Given the description of an element on the screen output the (x, y) to click on. 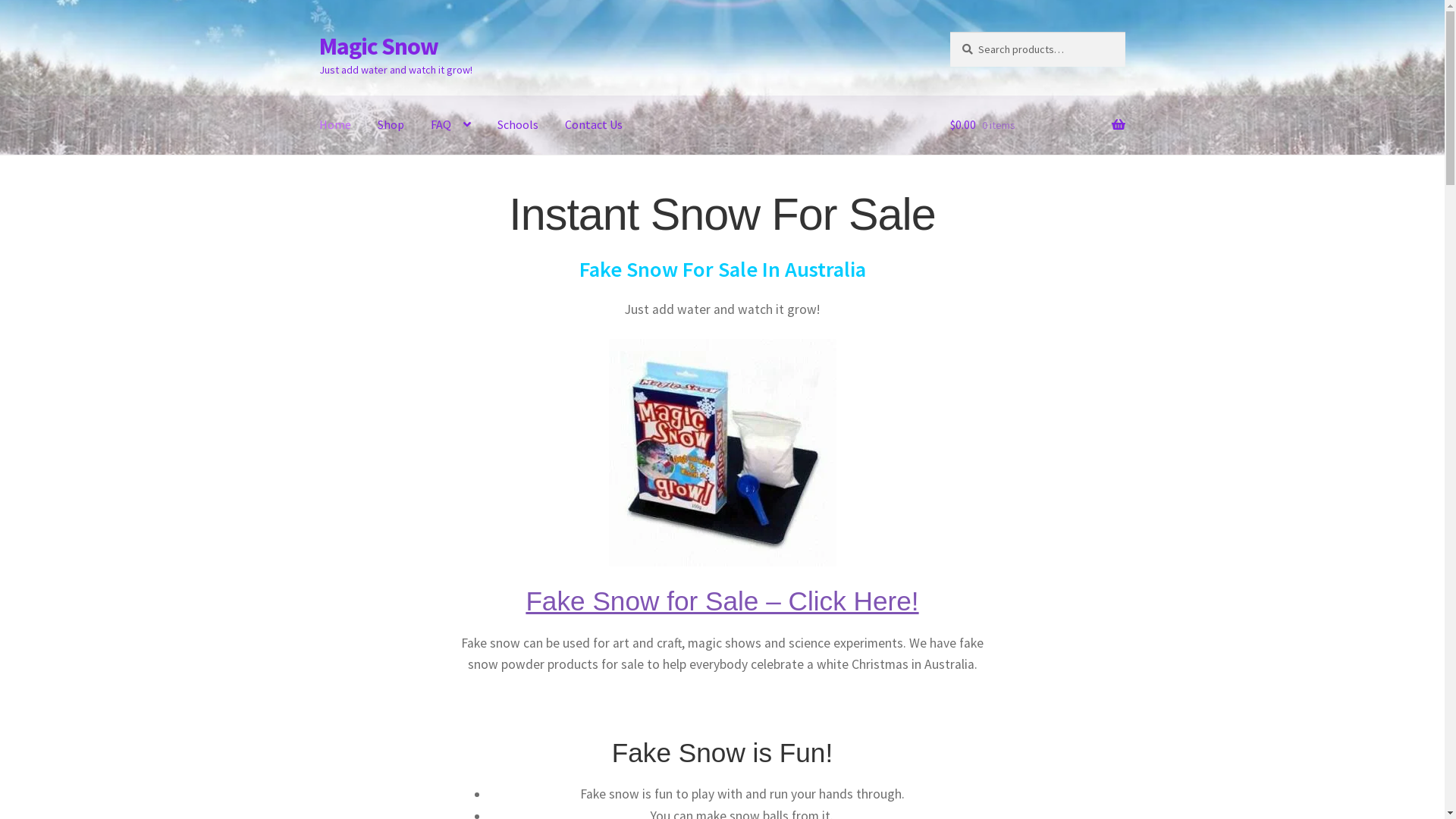
Schools Element type: text (517, 124)
FAQ Element type: text (450, 124)
Skip to navigation Element type: text (318, 31)
Shop Element type: text (390, 124)
Contact Us Element type: text (593, 124)
Home Element type: text (335, 124)
Magic Snow Element type: text (378, 46)
Search Element type: text (949, 31)
$0.00 0 items Element type: text (1037, 124)
